Given the description of an element on the screen output the (x, y) to click on. 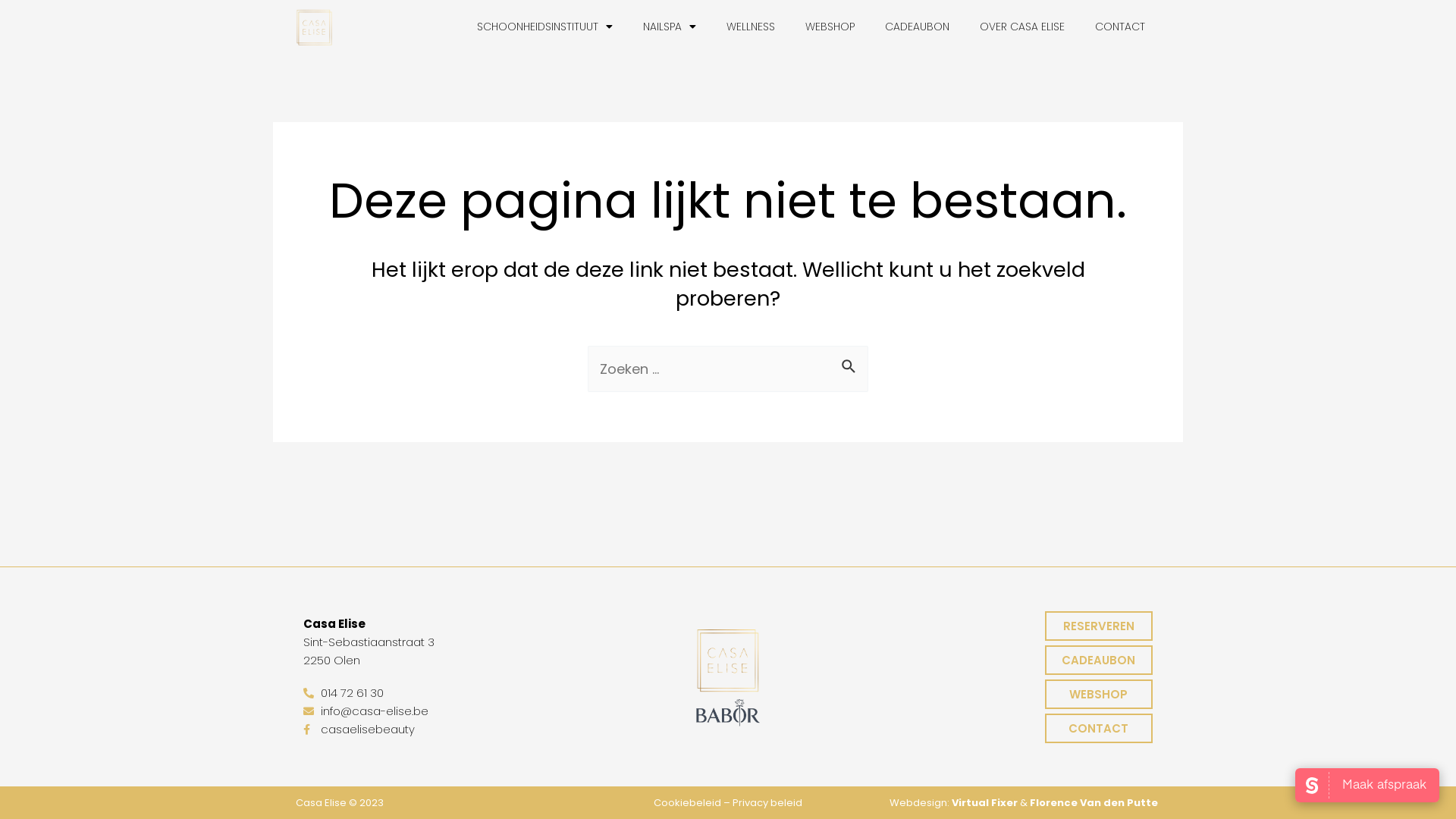
014 72 61 30 Element type: text (434, 693)
Zoeken Element type: text (851, 362)
casaelisebeauty Element type: text (434, 729)
info@casa-elise.be Element type: text (434, 711)
CADEAUBON Element type: text (916, 26)
CADEAUBON Element type: text (1098, 659)
WEBSHOP Element type: text (829, 26)
Florence Van den Putte Element type: text (1093, 802)
SCHOONHEIDSINSTITUUT Element type: text (544, 26)
CONTACT Element type: text (1098, 728)
NAILSPA Element type: text (669, 26)
WELLNESS Element type: text (750, 26)
Virtual Fixer Element type: text (984, 802)
WEBSHOP Element type: text (1098, 694)
OVER CASA ELISE Element type: text (1021, 26)
RESERVEREN Element type: text (1098, 625)
CONTACT Element type: text (1119, 26)
